Given the description of an element on the screen output the (x, y) to click on. 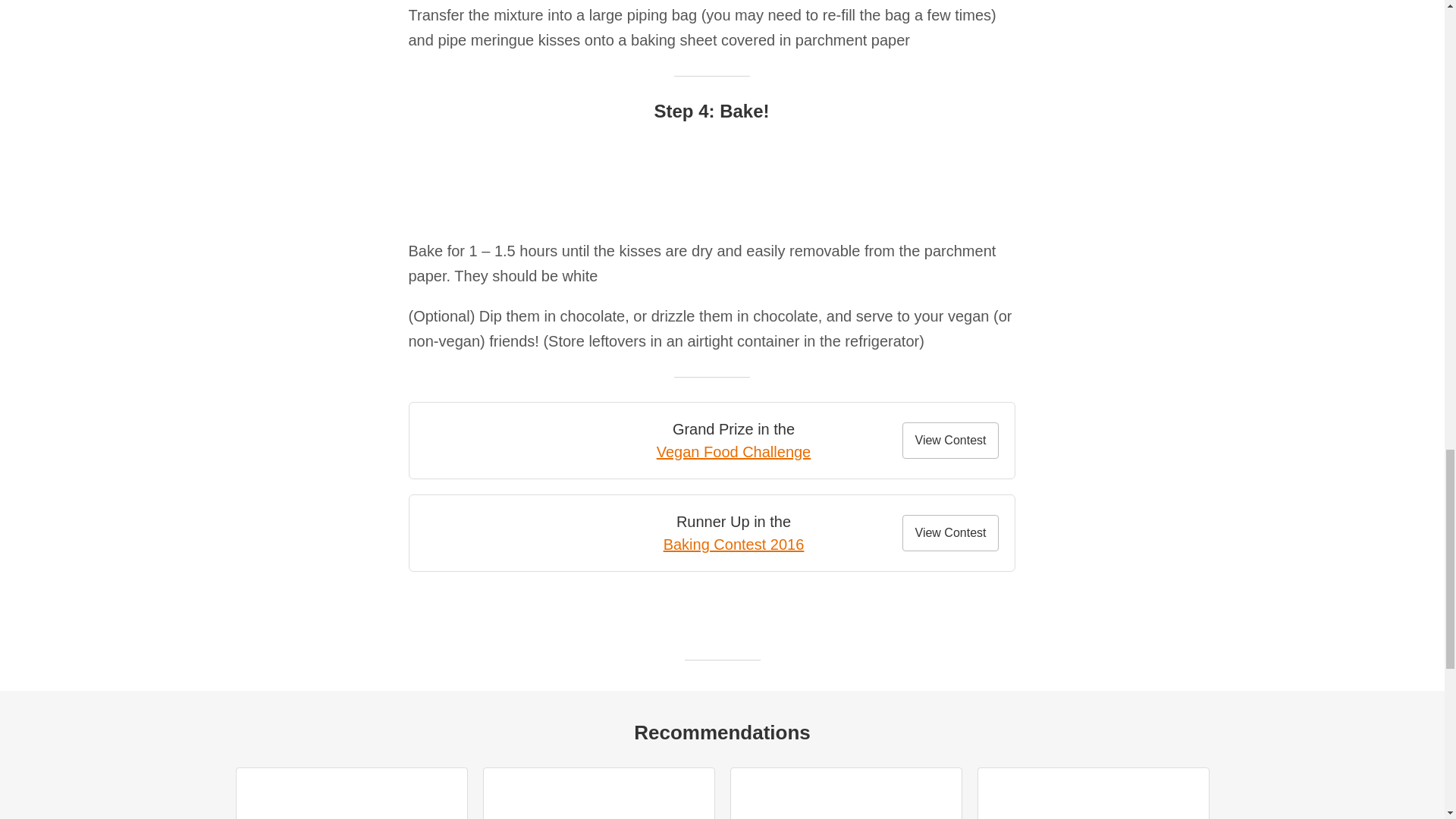
Vegan Food Challenge (733, 451)
Baking Contest 2016 (734, 544)
View Contest (950, 533)
View Contest (950, 440)
